Given the description of an element on the screen output the (x, y) to click on. 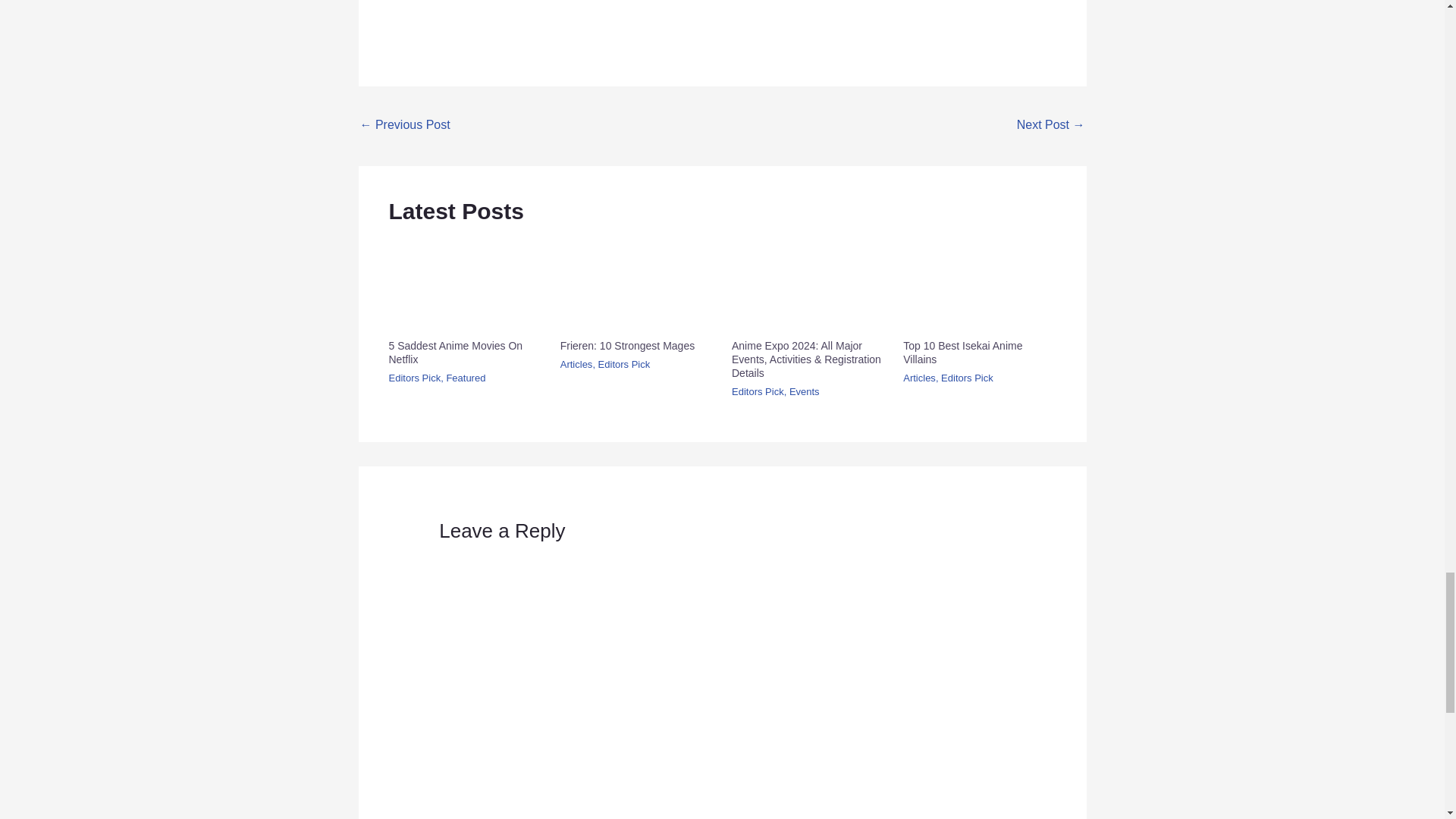
Frieren: 10 Strongest Mages 5 (636, 283)
5 Saddest Anime Movies On Netflix 4 (464, 283)
